Given the description of an element on the screen output the (x, y) to click on. 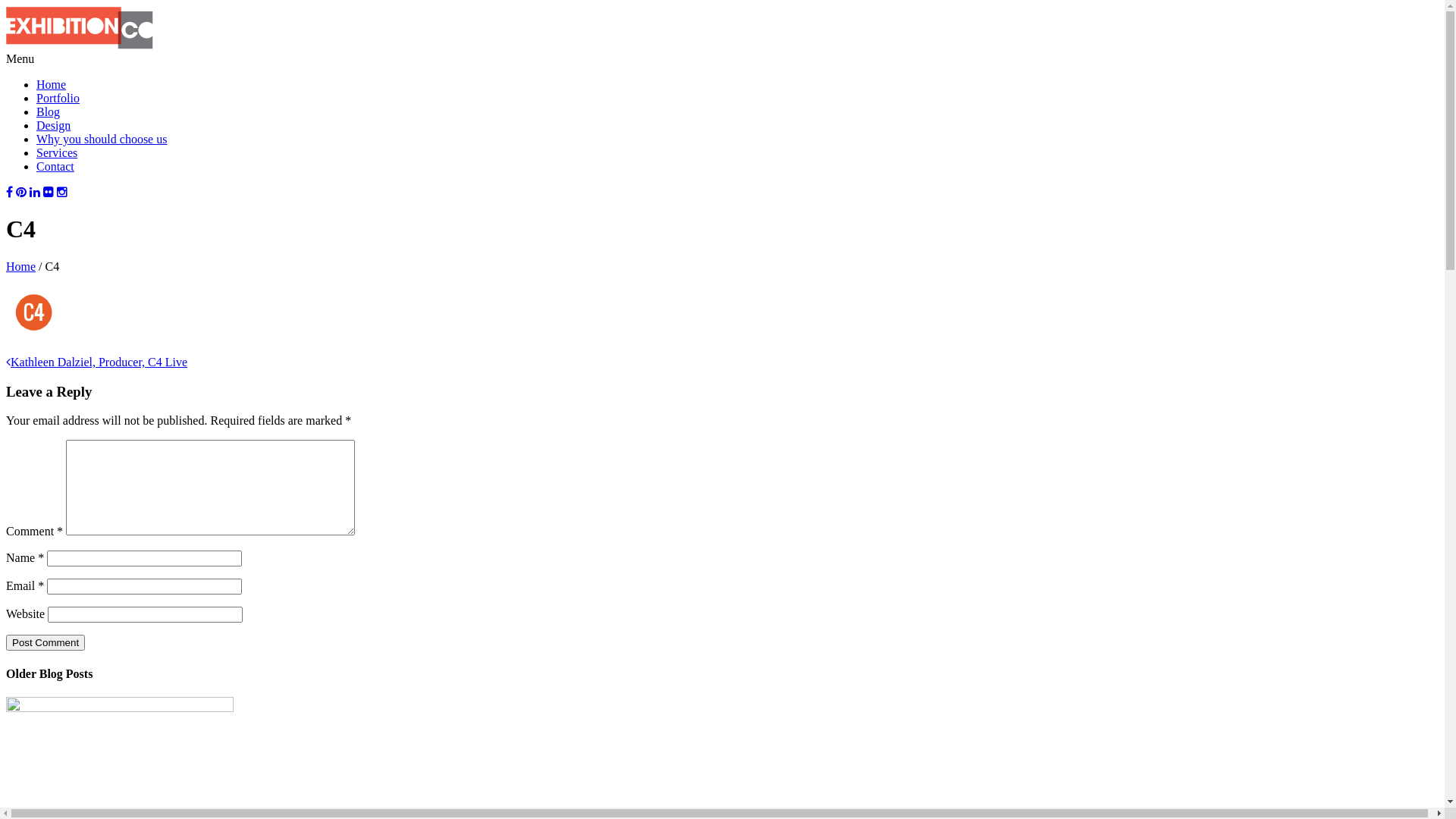
Contact Element type: text (55, 166)
Blog Element type: text (47, 111)
Why you should choose us Element type: text (101, 138)
Services Element type: text (56, 152)
Kathleen Dalziel, Producer, C4 Live Element type: text (96, 361)
Home Element type: text (50, 84)
Portfolio Element type: text (57, 97)
Design Element type: text (53, 125)
Home Element type: text (20, 266)
Post Comment Element type: text (45, 642)
